Given the description of an element on the screen output the (x, y) to click on. 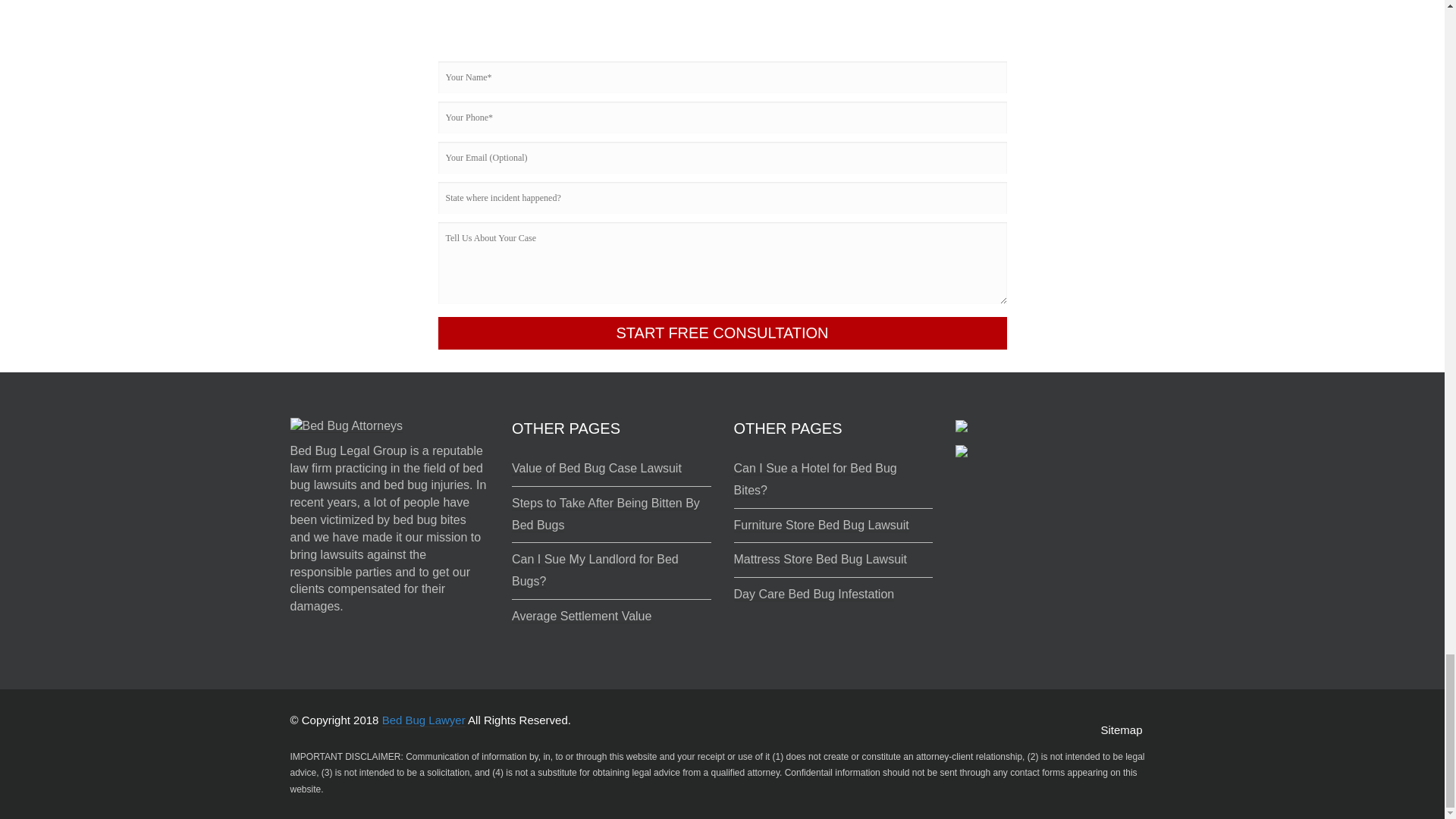
Mattress Store Bed Bug Lawsuit (820, 559)
Can I Sue My Landlord for Bed Bugs? (595, 570)
Value of Bed Bug Case Lawsuit (596, 468)
Furniture Store Bed Bug Lawsuit (820, 525)
START FREE CONSULTATION (722, 332)
Can I Sue a Hotel for Bed Bug Bites? (814, 479)
Sitemap (1121, 729)
START FREE CONSULTATION (722, 332)
Steps to Take After Being Bitten By Bed Bugs (606, 514)
Bed Bug Lawyer (423, 720)
